Given the description of an element on the screen output the (x, y) to click on. 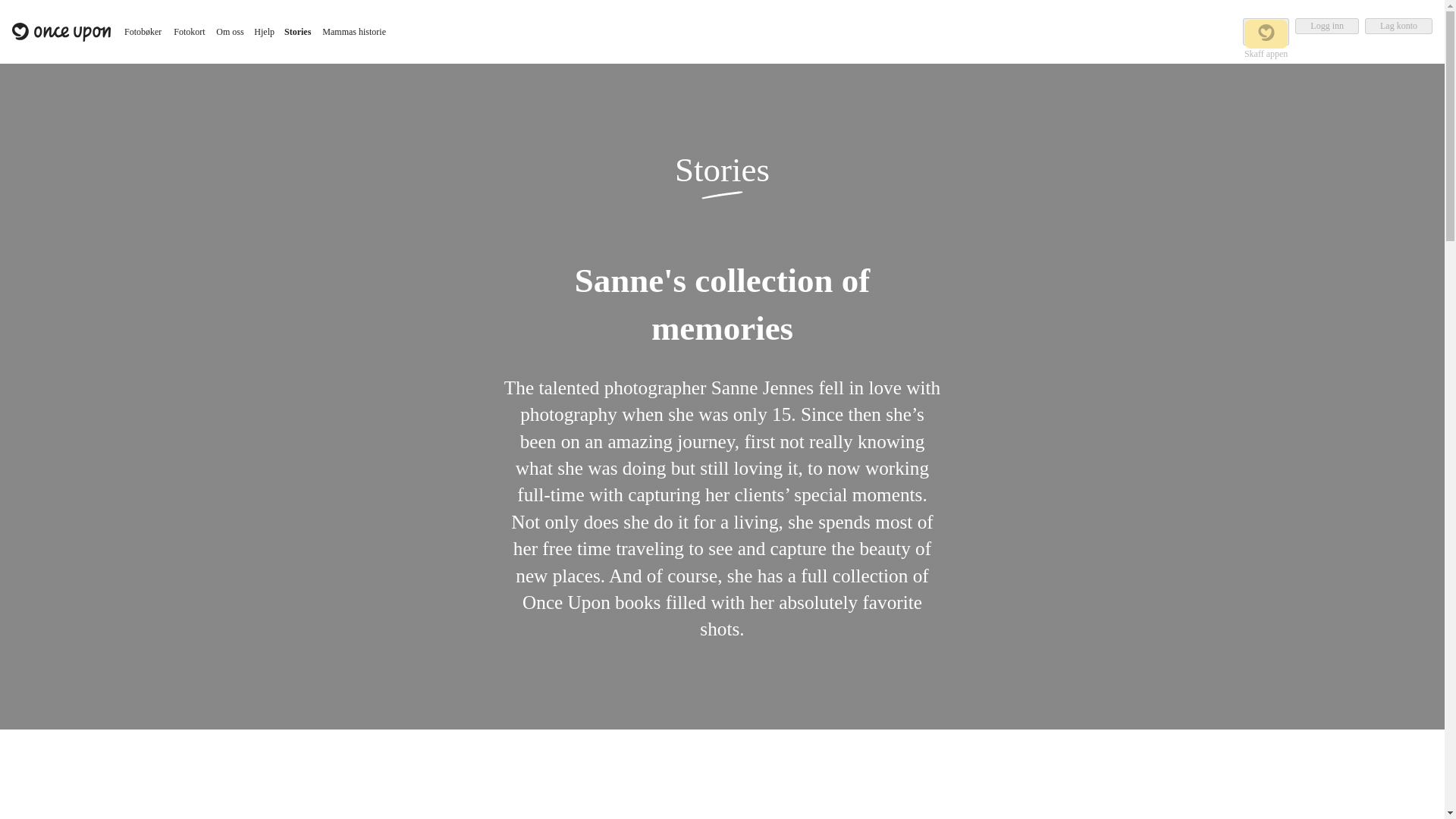
Fotokort (189, 31)
Hjelp (263, 31)
Om oss (229, 31)
Om oss (229, 31)
Stories (297, 31)
Mammas historie (354, 31)
Hjelp (263, 31)
Stories (297, 31)
Fotokort (189, 31)
Mammas historie (354, 31)
